Given the description of an element on the screen output the (x, y) to click on. 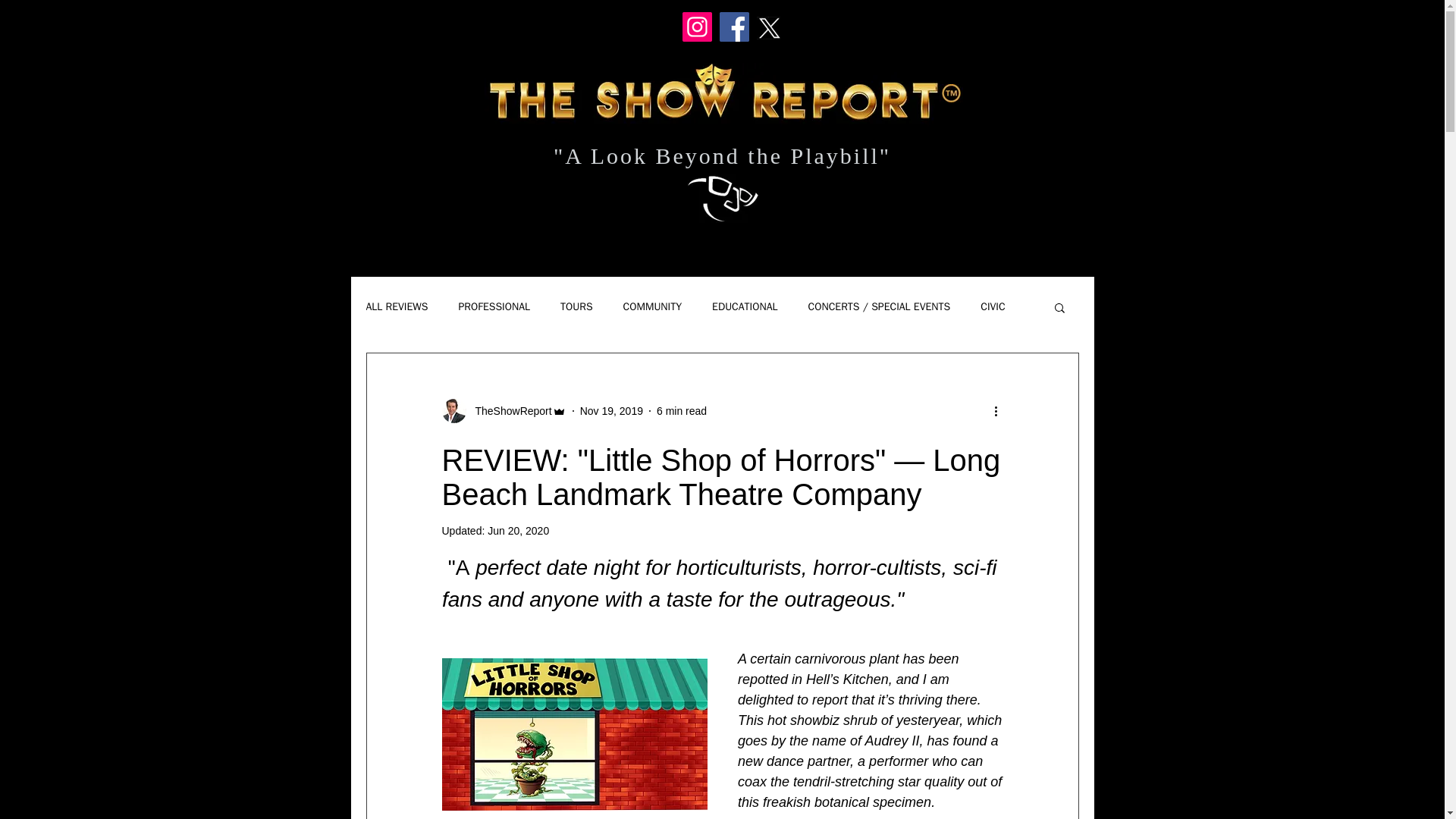
EDUCATIONAL (744, 306)
CIVIC (991, 306)
COMMUNITY (652, 306)
TheShowReport (503, 410)
6 min read (681, 410)
TheShowReport (508, 411)
ALL REVIEWS (396, 306)
Nov 19, 2019 (611, 410)
Jun 20, 2020 (517, 530)
TOURS (576, 306)
